Given the description of an element on the screen output the (x, y) to click on. 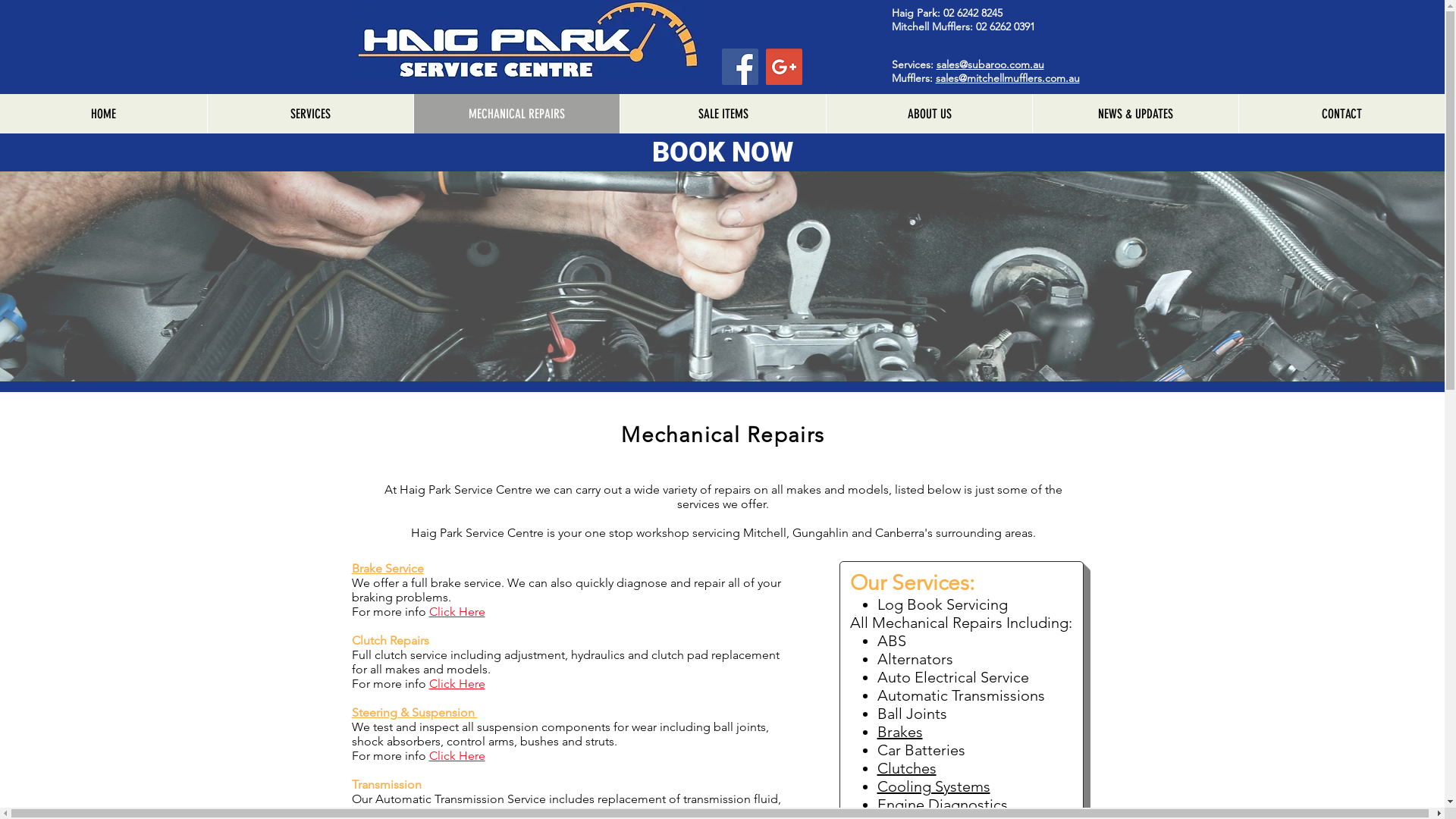
Engine Diagnostics Element type: text (941, 804)
Cooling Systems Element type: text (932, 786)
MECHANICAL REPAIRS Element type: text (516, 113)
Steering & Suspension  Element type: text (414, 712)
sales@mitchellmufflers.com.au Element type: text (1007, 77)
Click Here Element type: text (457, 755)
SERVICES Element type: text (310, 113)
Brakes Element type: text (899, 731)
Facebook Like Popup Element type: hover (1362, 792)
SALE ITEMS Element type: text (722, 113)
ABOUT US Element type: text (928, 113)
Clutches Element type: text (905, 768)
CONTACT Element type: text (1341, 113)
NEWS & UPDATES Element type: text (1135, 113)
Click Here Element type: text (457, 611)
sales@subaroo.com.au Element type: text (989, 64)
Back to Top Element type: hover (1026, 772)
HOME Element type: text (103, 113)
Brake Service Element type: text (387, 568)
Click Here Element type: text (457, 683)
